Given the description of an element on the screen output the (x, y) to click on. 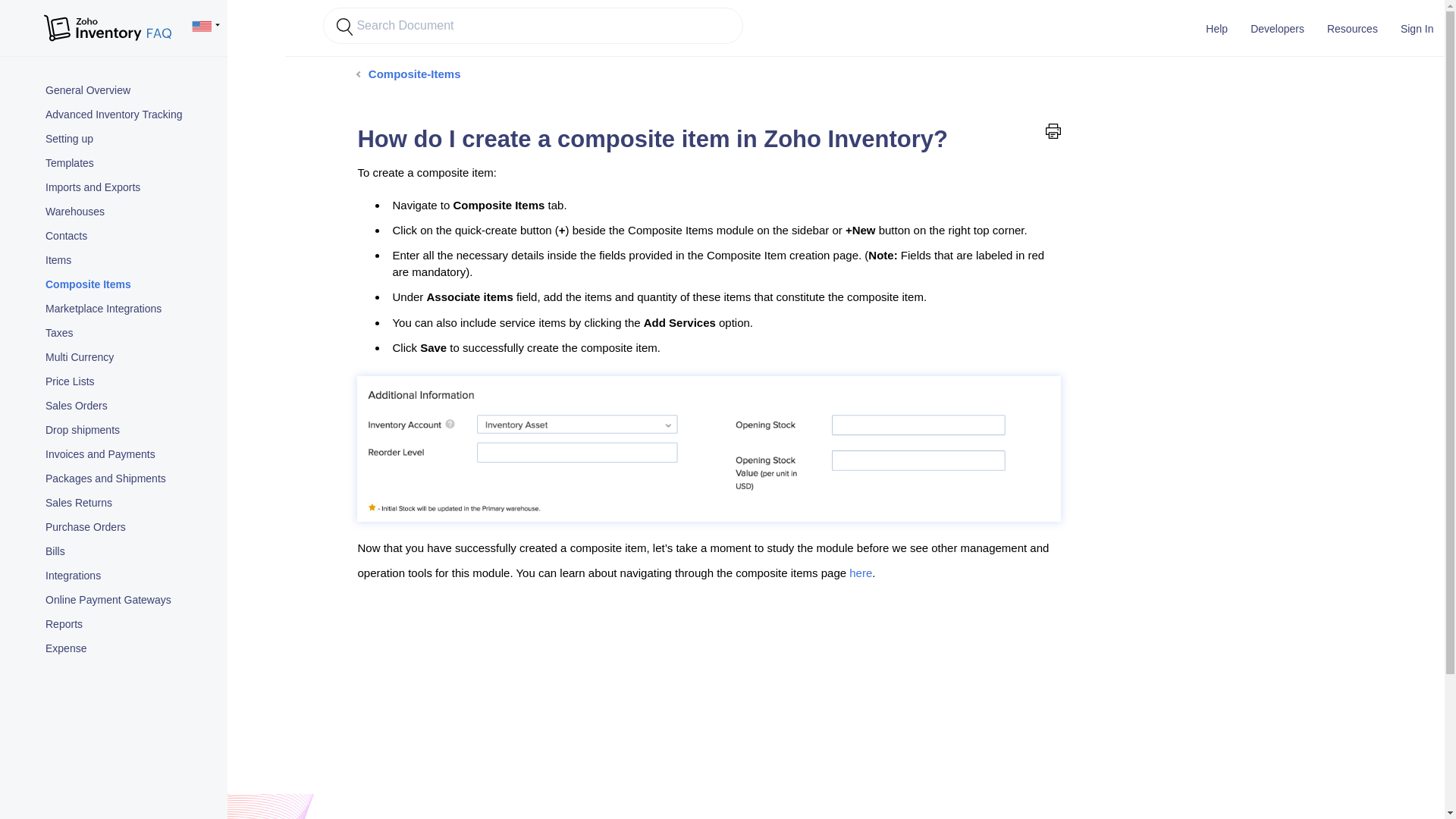
Help (1216, 28)
Print this page (1053, 130)
Developers (1277, 28)
